Given the description of an element on the screen output the (x, y) to click on. 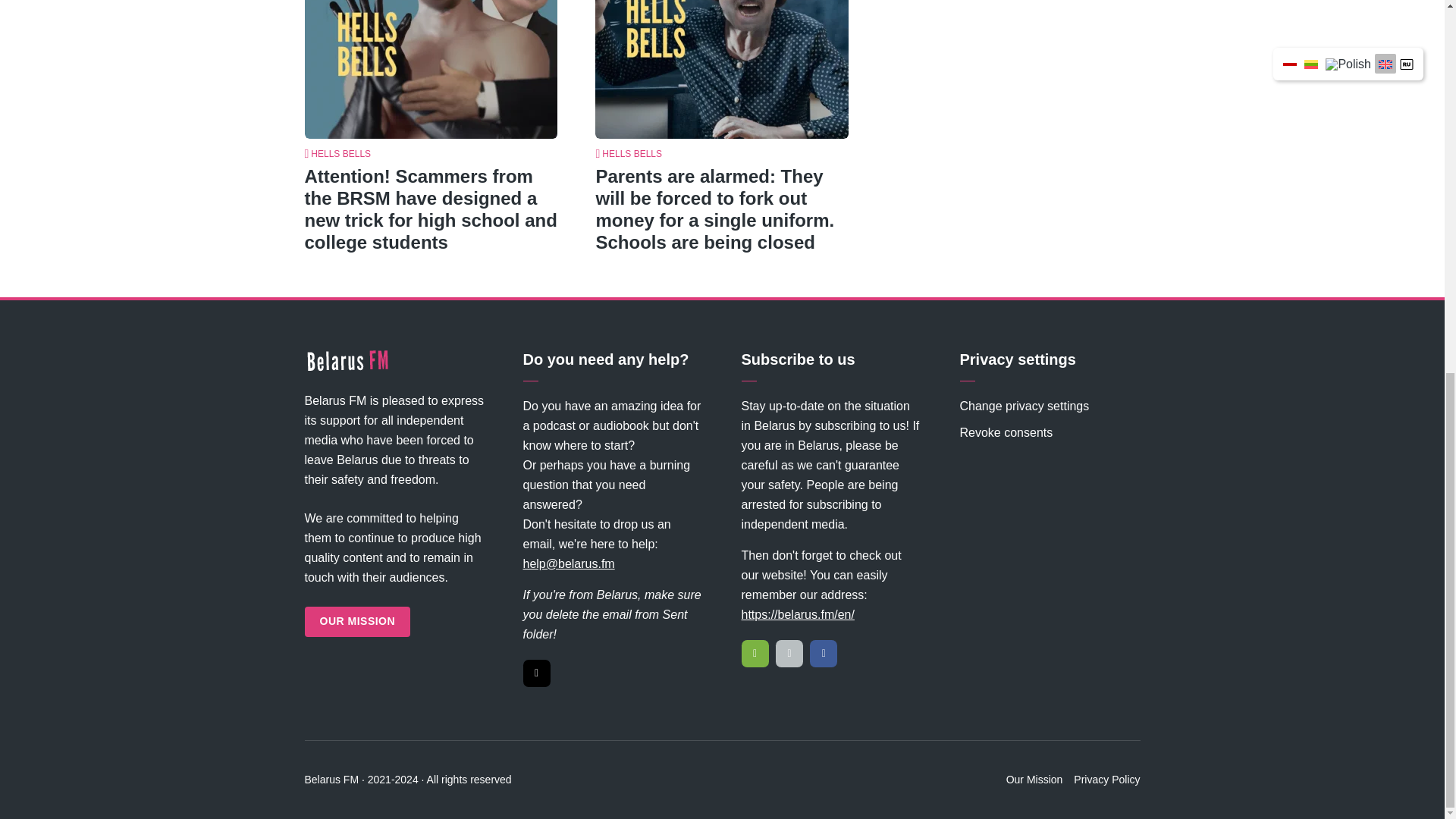
Facebook (823, 653)
Mail (536, 673)
Apple (789, 653)
Spotify (754, 653)
